Given the description of an element on the screen output the (x, y) to click on. 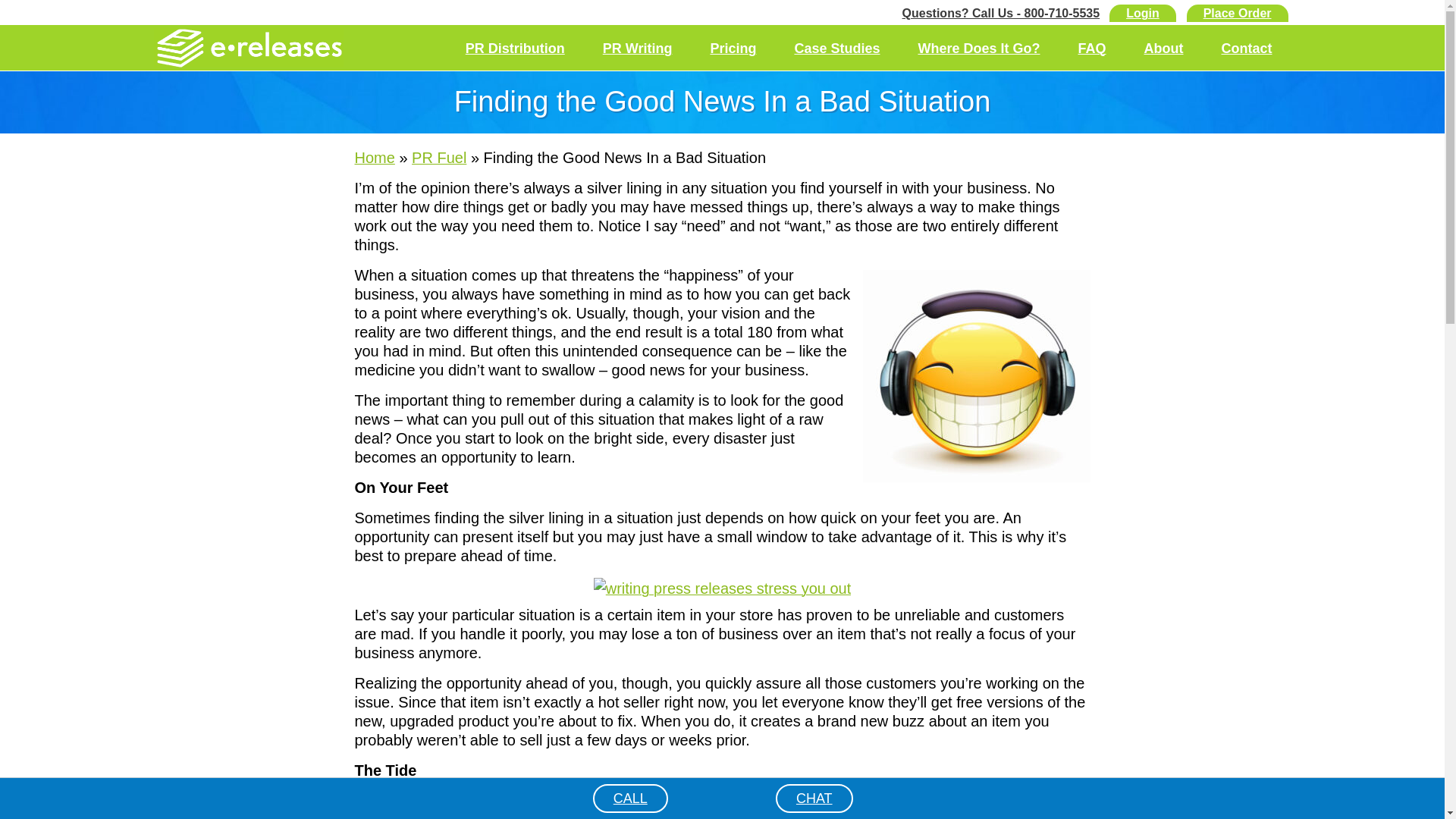
Questions? Call Us - 800-710-5535 (1001, 12)
PR Distribution (514, 48)
Case Studies (836, 48)
Where Does It Go? (978, 48)
PR Fuel (438, 157)
About (1163, 48)
PR Writing (637, 48)
FAQ (1091, 48)
Contact (1246, 48)
Contact (1246, 48)
